Given the description of an element on the screen output the (x, y) to click on. 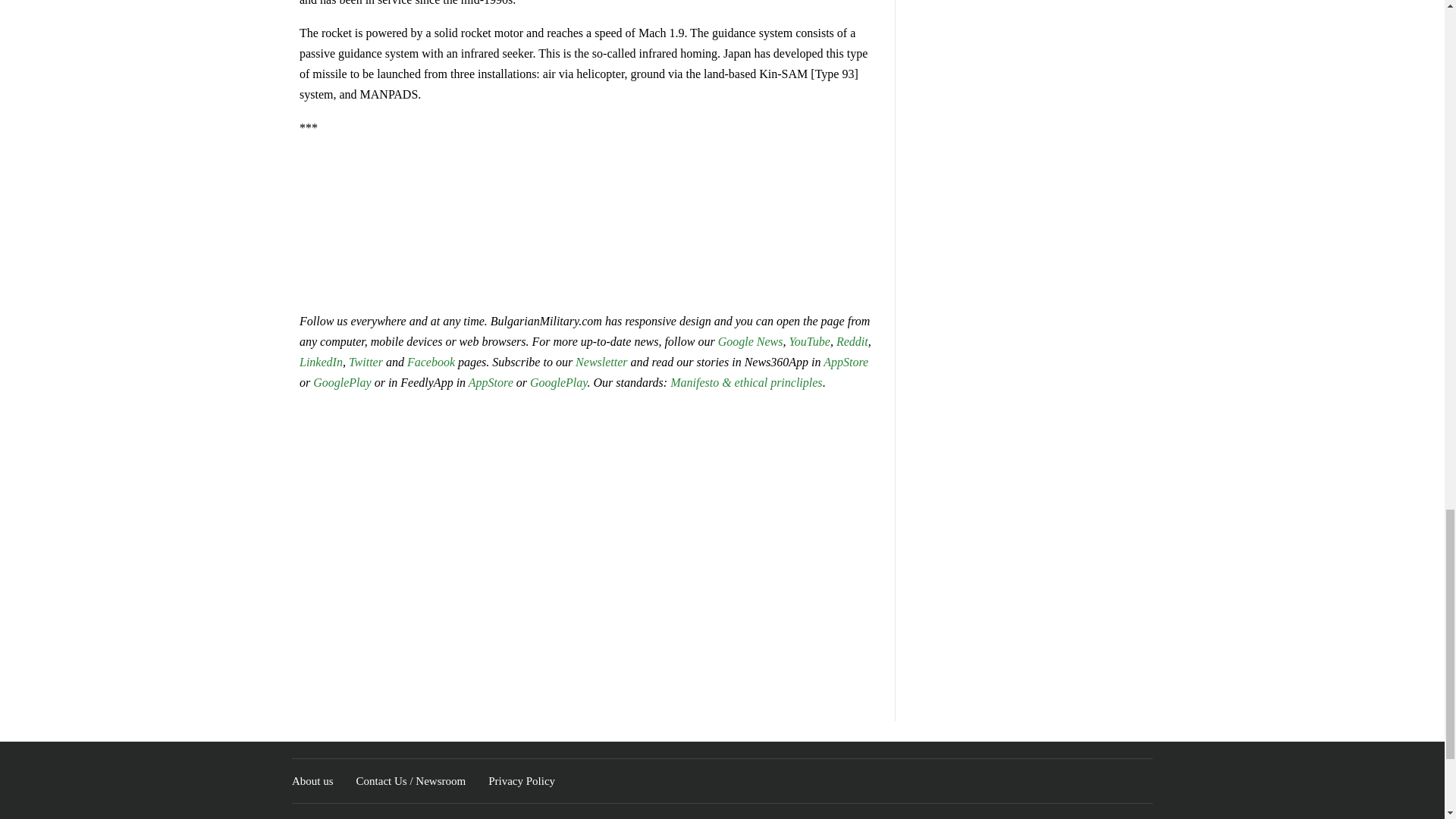
YouTube (809, 341)
Reddit (851, 341)
Facebook (430, 361)
Advertisement (587, 222)
LinkedIn (320, 361)
Newsletter (601, 361)
Google News (750, 341)
Twitter (367, 361)
AppStore (845, 361)
